Given the description of an element on the screen output the (x, y) to click on. 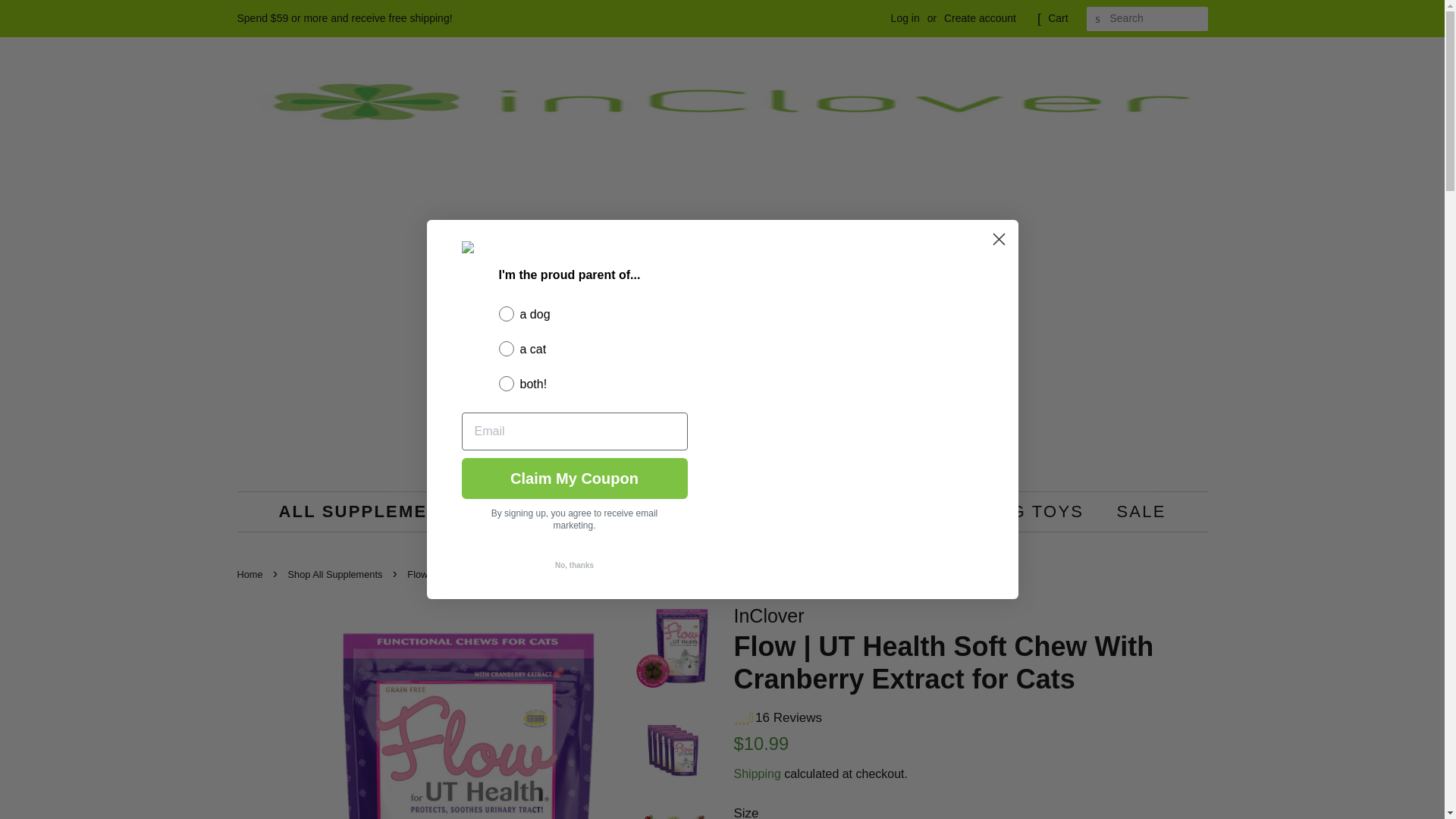
Create account (979, 18)
Log in (905, 18)
on (503, 298)
on (503, 368)
Back to the frontpage (250, 573)
SEARCH (1097, 18)
on (503, 333)
Cart (1057, 18)
ALL SUPPLEMENTS (386, 511)
